Given the description of an element on the screen output the (x, y) to click on. 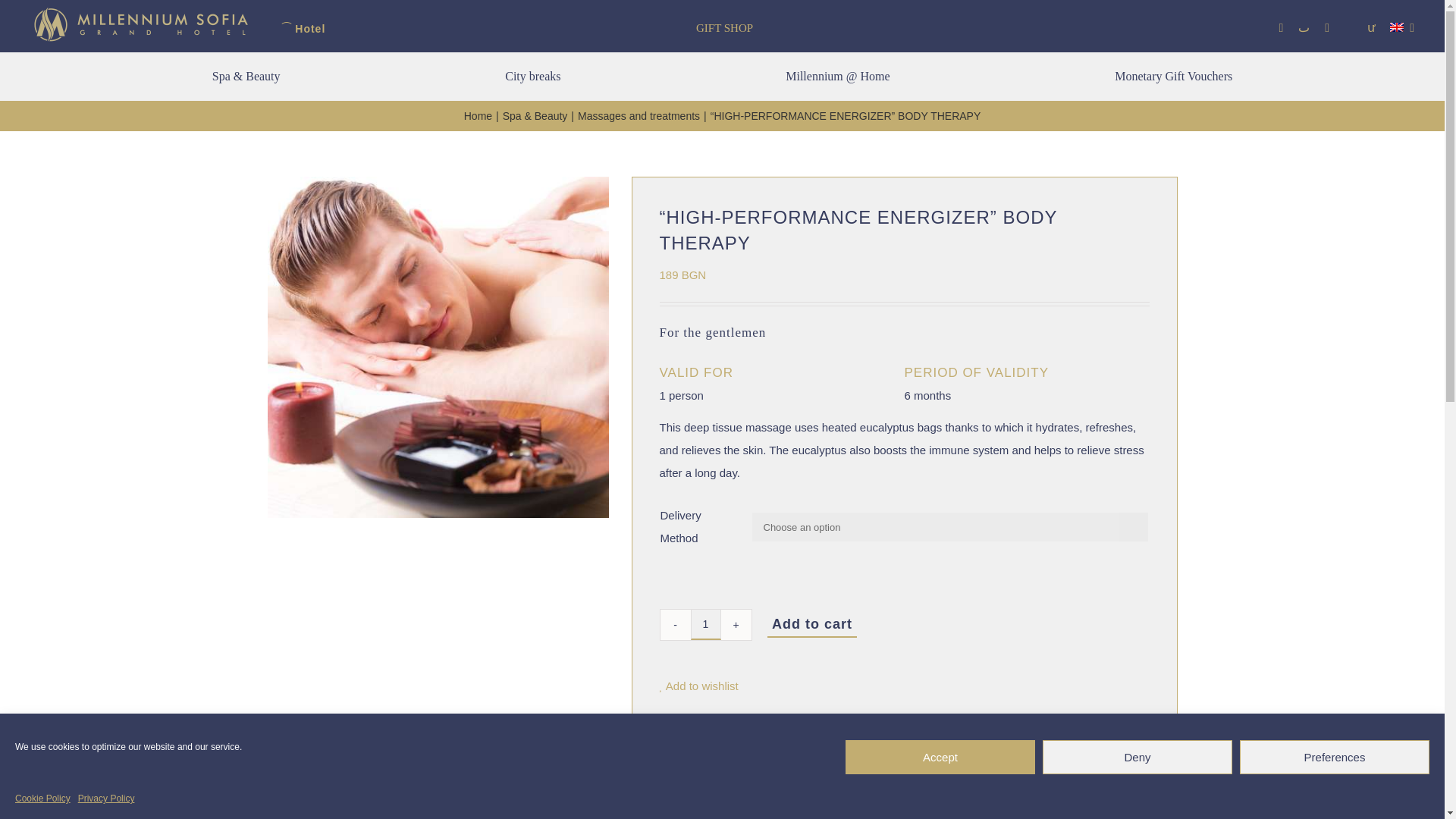
Search (1370, 28)
Monetary Gift Vouchers (1173, 76)
Qty (705, 624)
1 (705, 624)
- (674, 624)
Hotel (305, 28)
City breaks (532, 76)
